Given the description of an element on the screen output the (x, y) to click on. 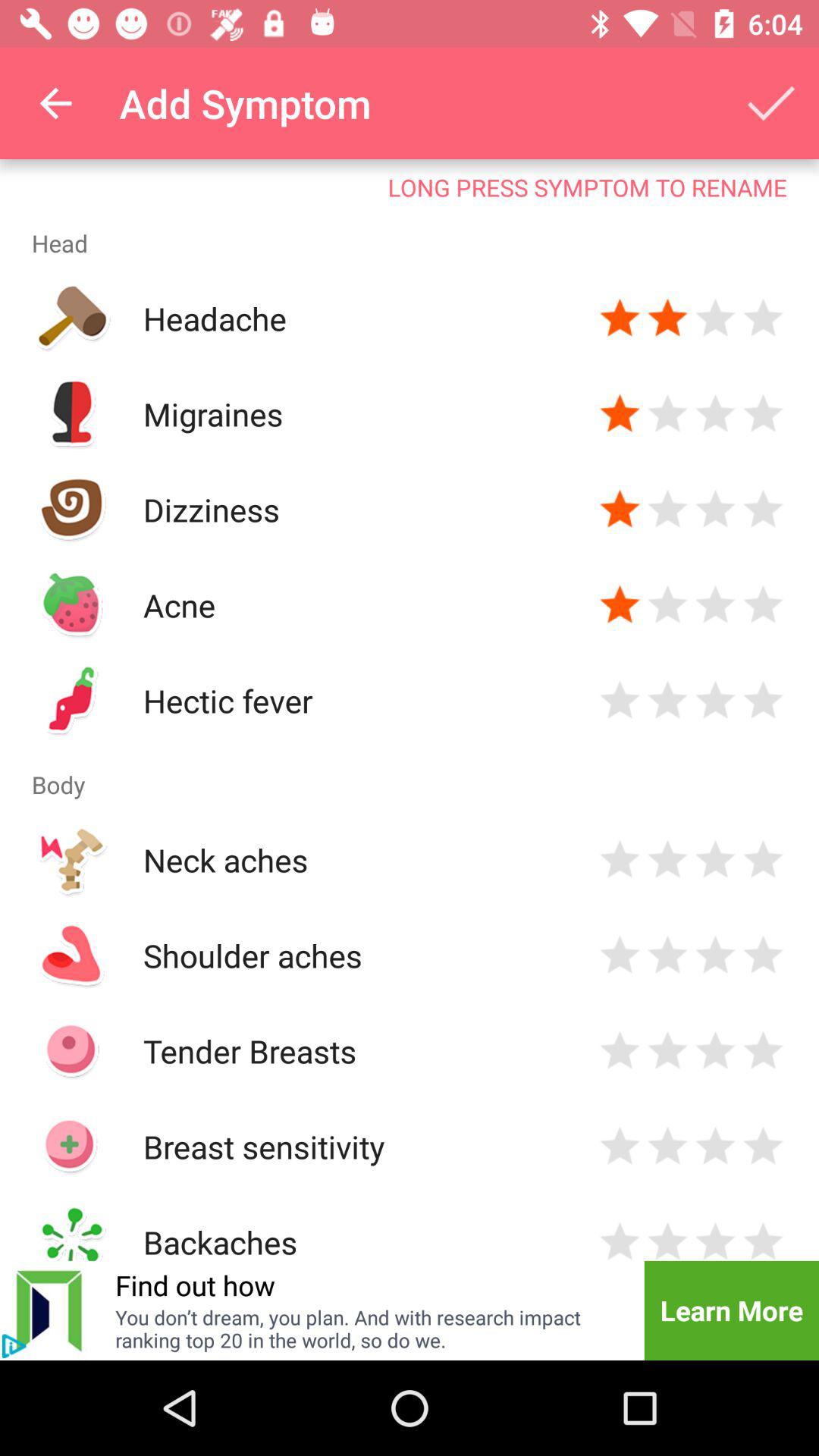
give a star rating (763, 509)
